Given the description of an element on the screen output the (x, y) to click on. 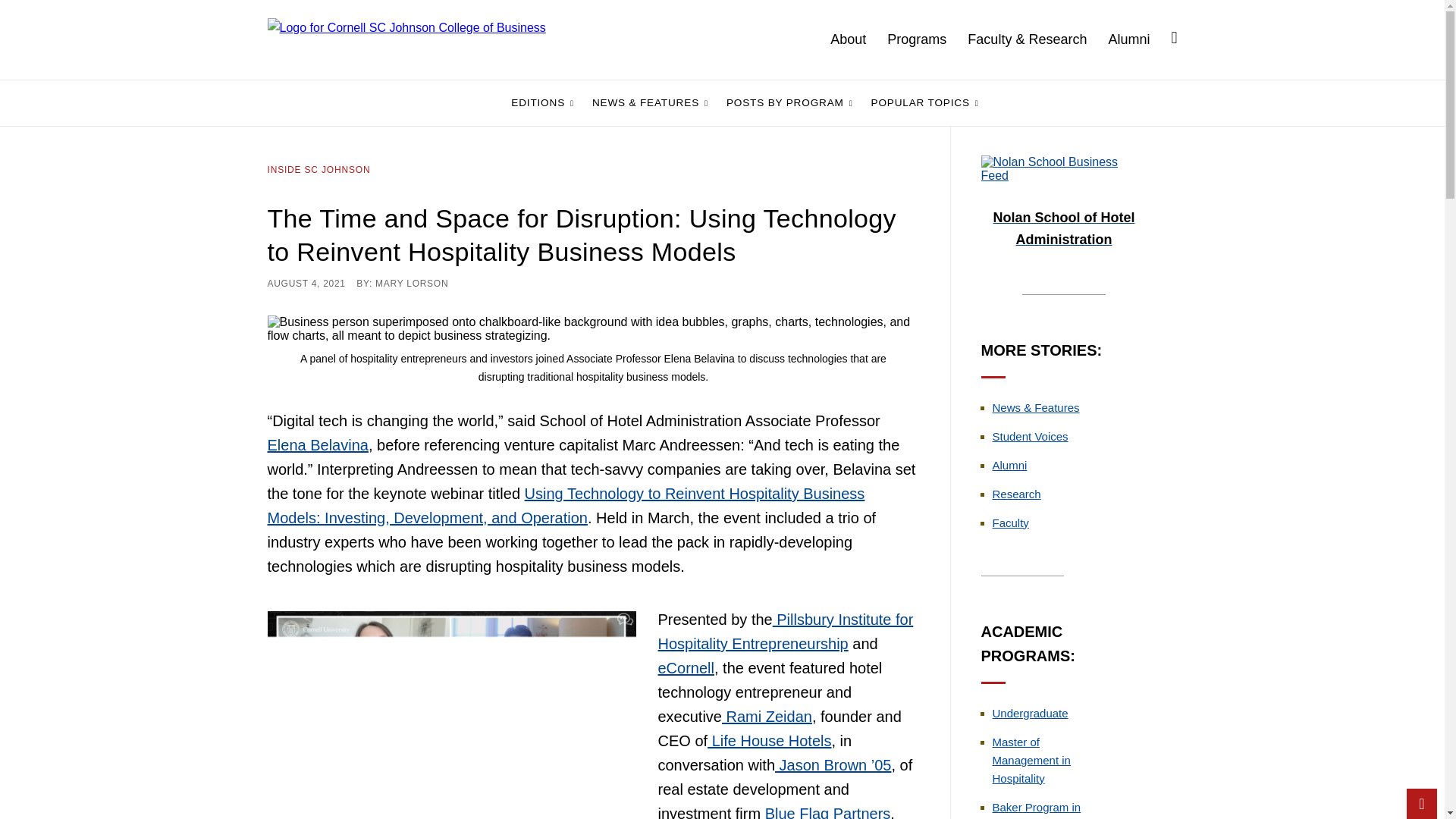
Nolan stories featuring student voices (1029, 436)
POPULAR TOPICS (924, 102)
Nolan stories about faculty (1009, 522)
POSTS BY PROGRAM (789, 102)
EDITIONS (542, 102)
Nolan News and feature stories (1034, 407)
Alumni (1139, 39)
About (857, 39)
Nolan stories about Alumni (1008, 464)
Nolan stories about research (1016, 493)
